Given the description of an element on the screen output the (x, y) to click on. 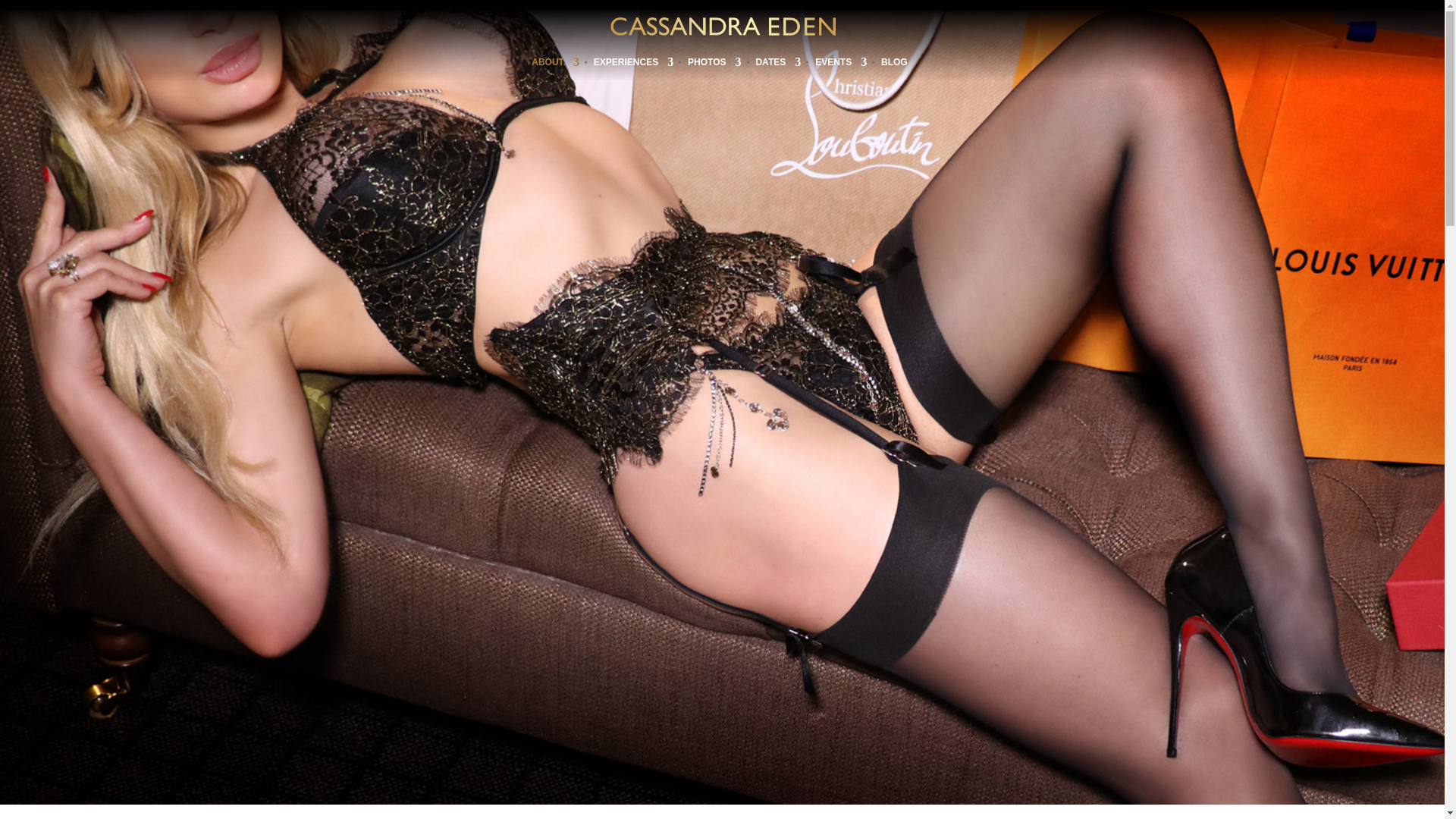
BLOG (893, 64)
EXPERIENCES (633, 64)
DATES (777, 64)
PHOTOS (714, 64)
ABOUT (555, 64)
EVENTS (840, 64)
